Given the description of an element on the screen output the (x, y) to click on. 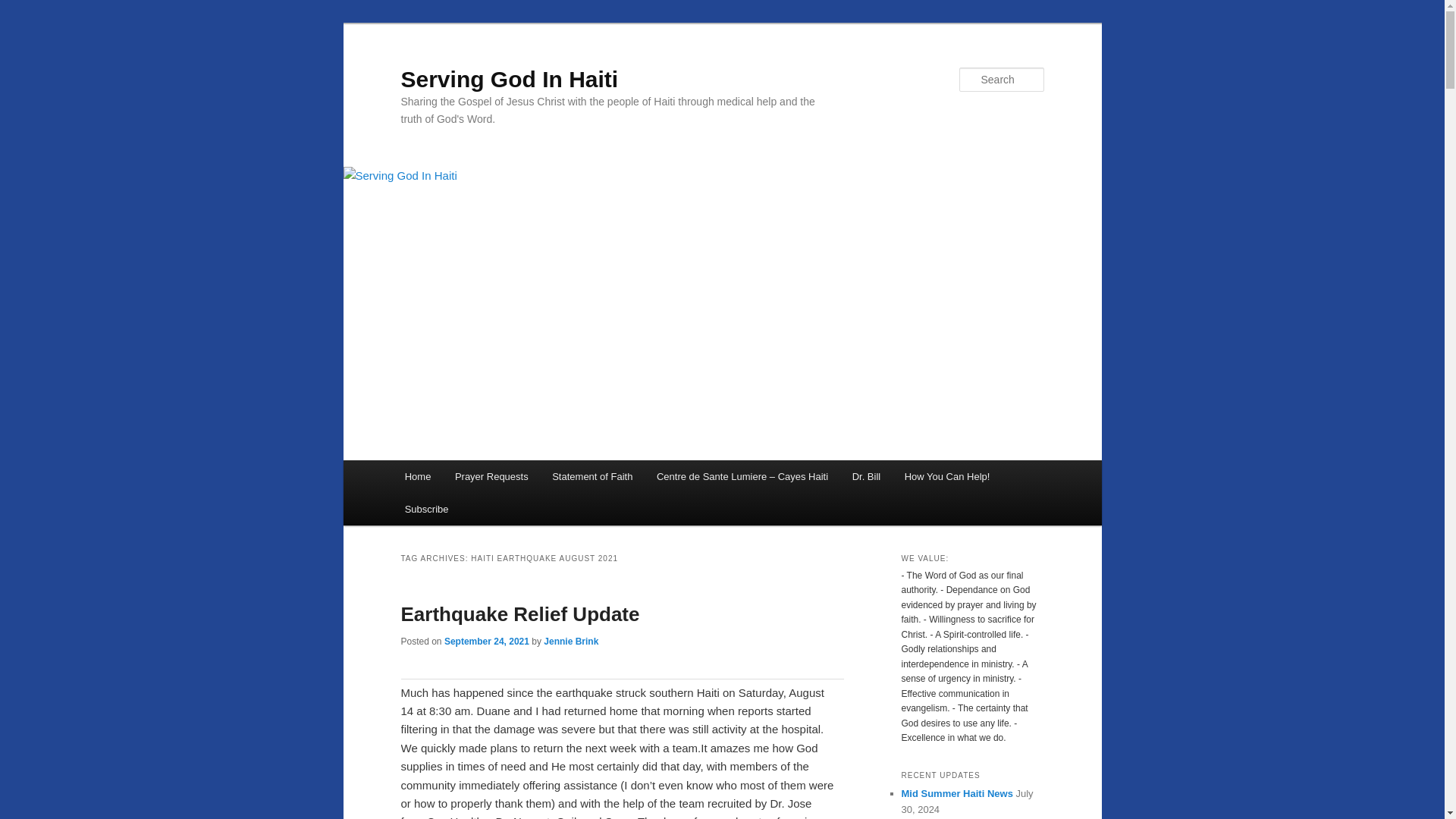
Subscribe (426, 509)
Statement of Faith (592, 476)
How You Can Help! (946, 476)
Jennie Brink (570, 641)
Dr. Bill (866, 476)
Earthquake Relief Update (519, 613)
Home (417, 476)
View all posts by Jennie Brink (570, 641)
Search (24, 8)
